Given the description of an element on the screen output the (x, y) to click on. 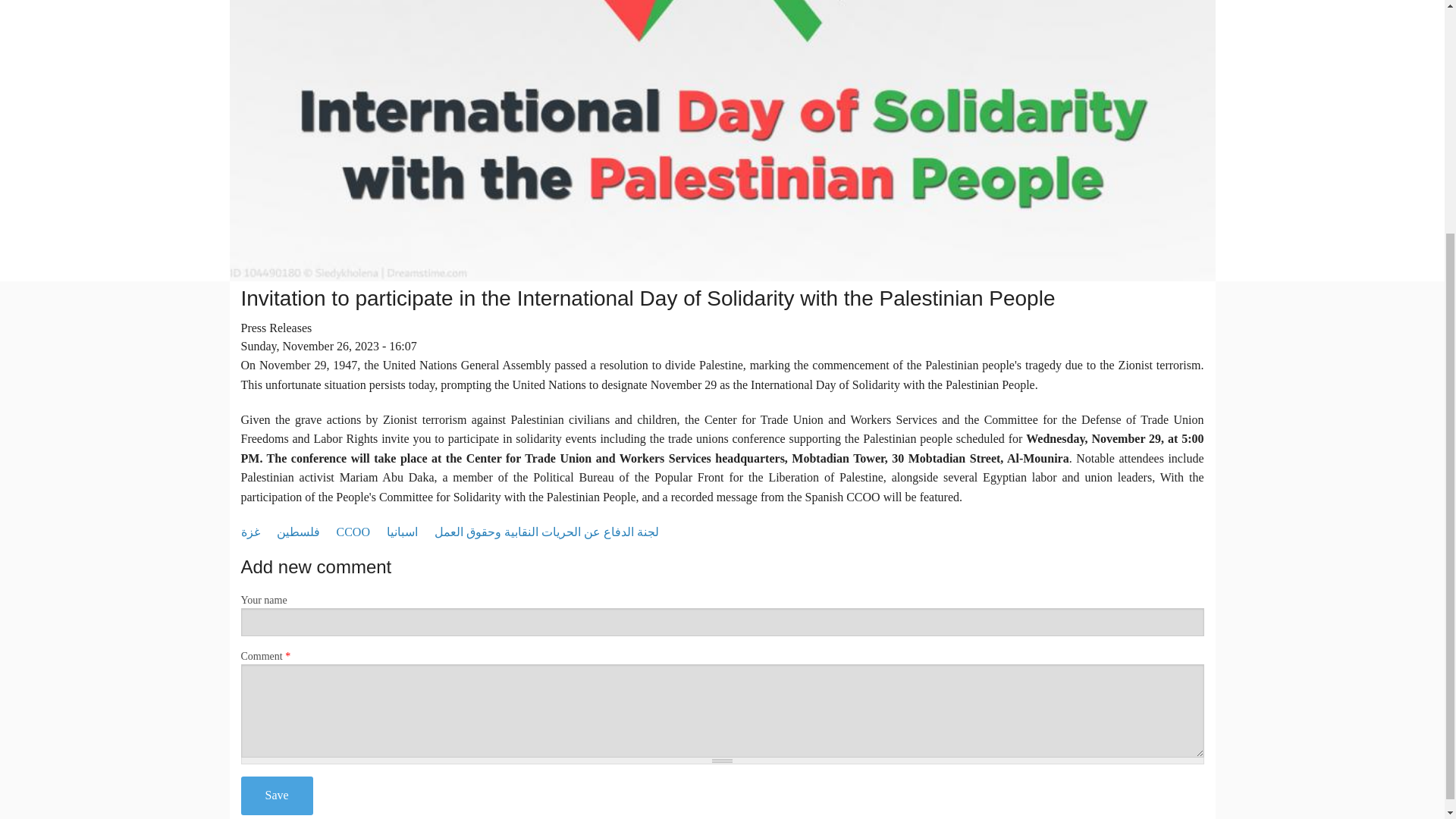
CCOO (352, 532)
Save (277, 795)
